Given the description of an element on the screen output the (x, y) to click on. 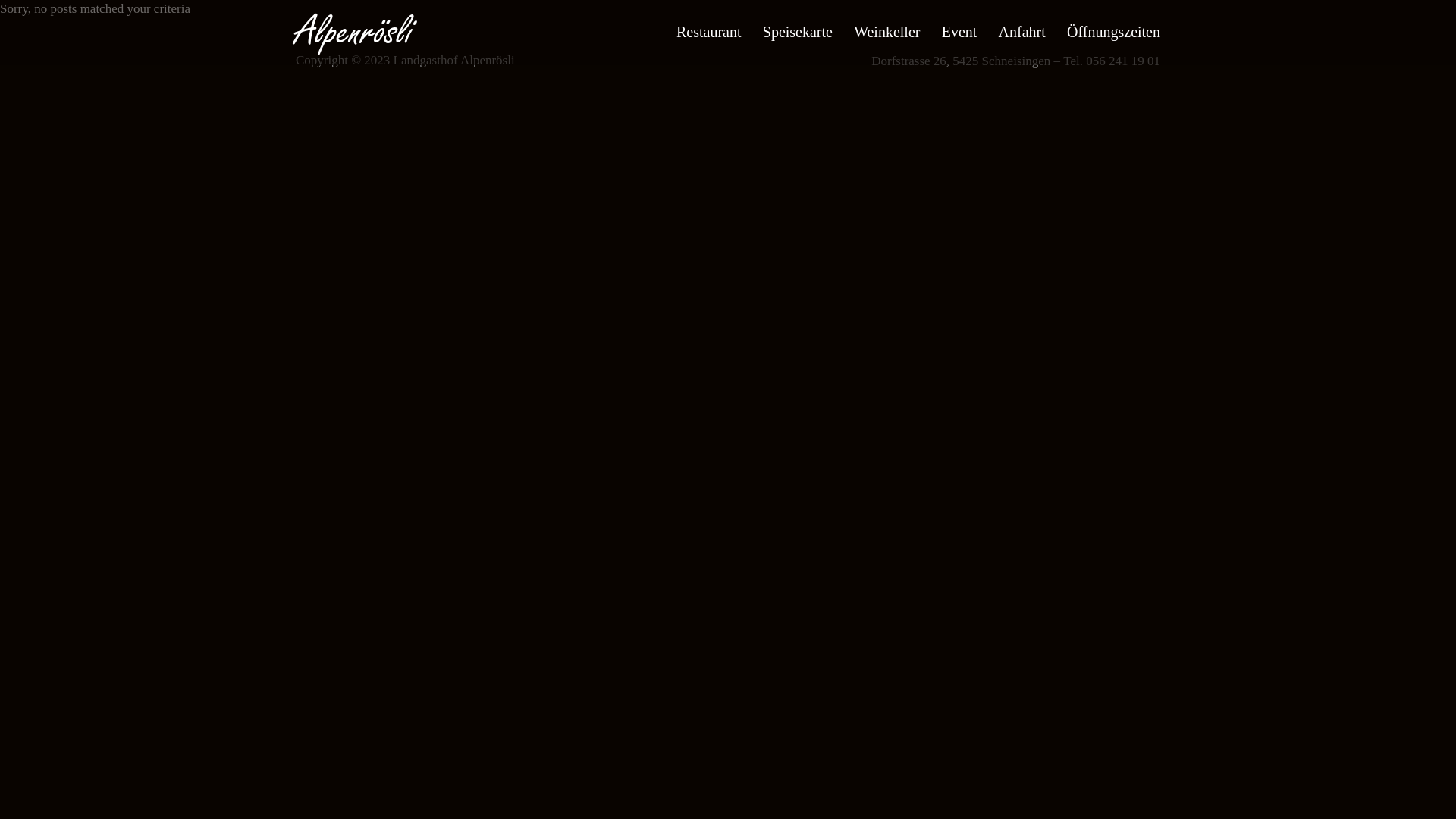
Restaurant Element type: text (708, 31)
Event Element type: text (959, 31)
Anfahrt Element type: text (1021, 31)
Weinkeller Element type: text (886, 31)
Speisekarte Element type: text (797, 31)
